Given the description of an element on the screen output the (x, y) to click on. 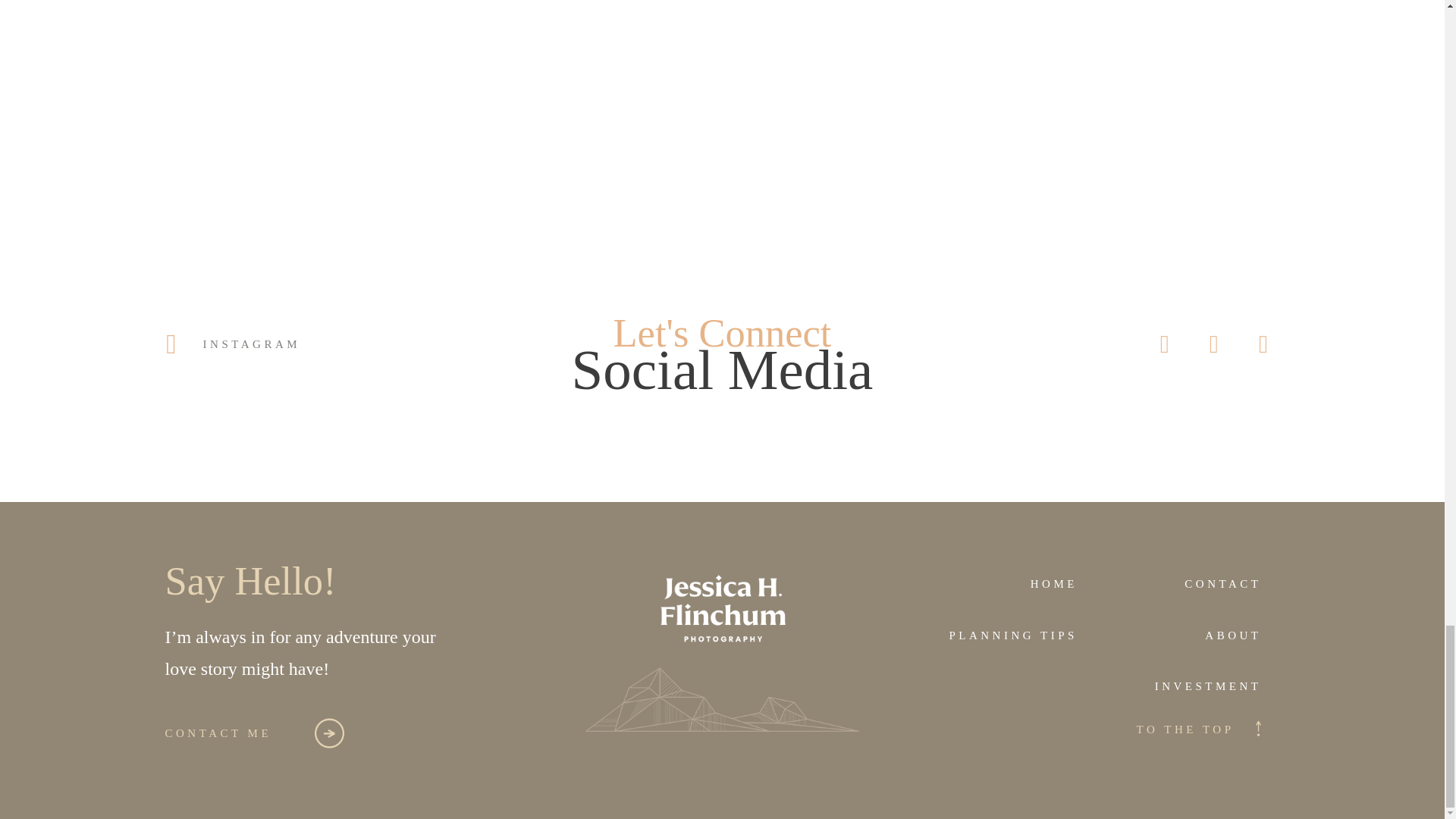
CONTACT (1187, 584)
ABOUT (1187, 635)
INVESTMENT (1095, 685)
PLANNING TIPS (1003, 635)
INSTAGRAM (228, 344)
HOME (1003, 584)
CONTACT ME (218, 733)
